Given the description of an element on the screen output the (x, y) to click on. 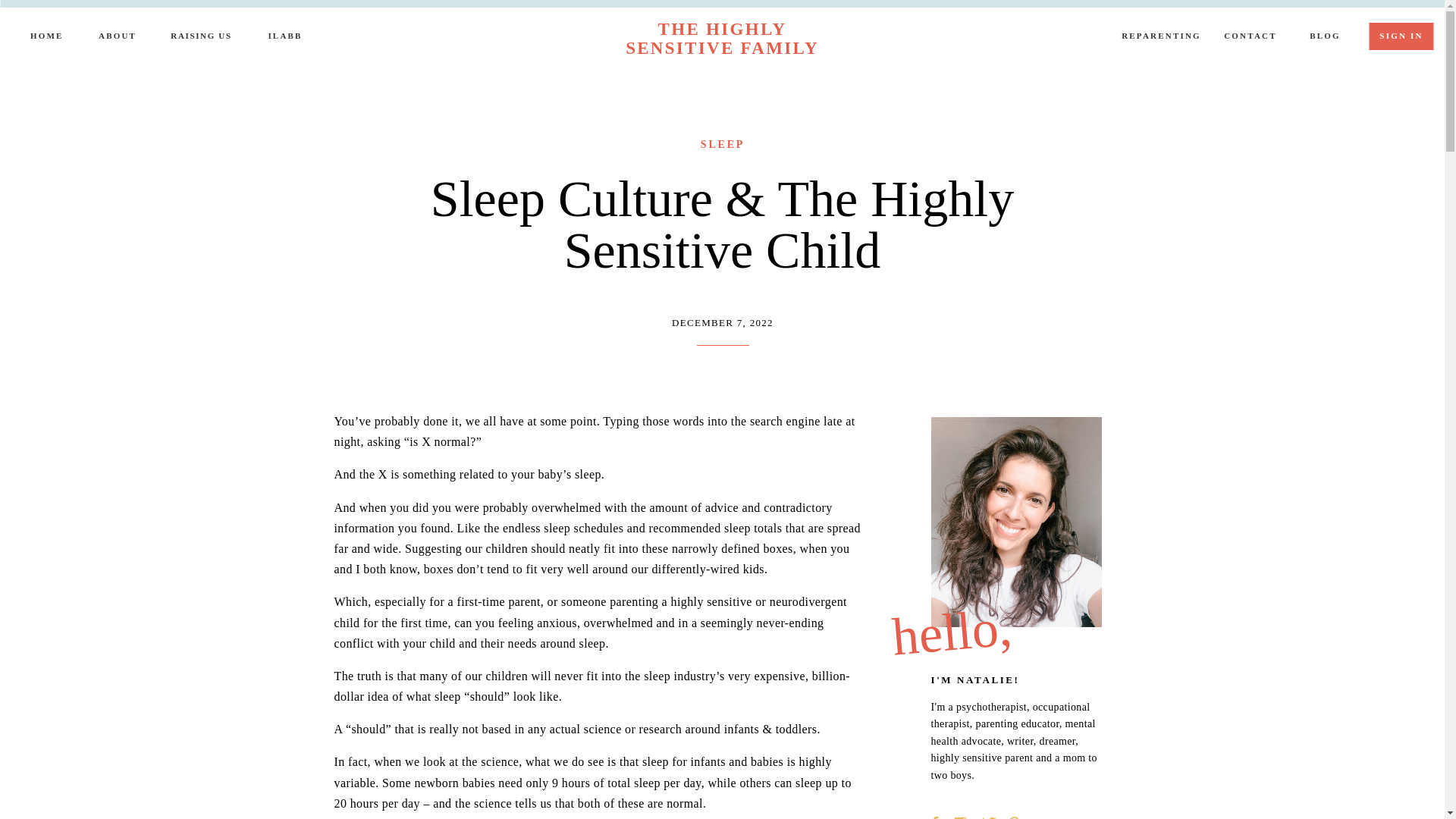
ILABB (284, 37)
ABOUT (116, 37)
SLEEP (722, 143)
THE HIGHLY SENSITIVE FAMILY (721, 38)
SIGN IN (1401, 35)
CONTACT (1249, 37)
RAISING US (200, 35)
BLOG (1325, 37)
REPARENTING (1161, 37)
HOME (45, 37)
